Given the description of an element on the screen output the (x, y) to click on. 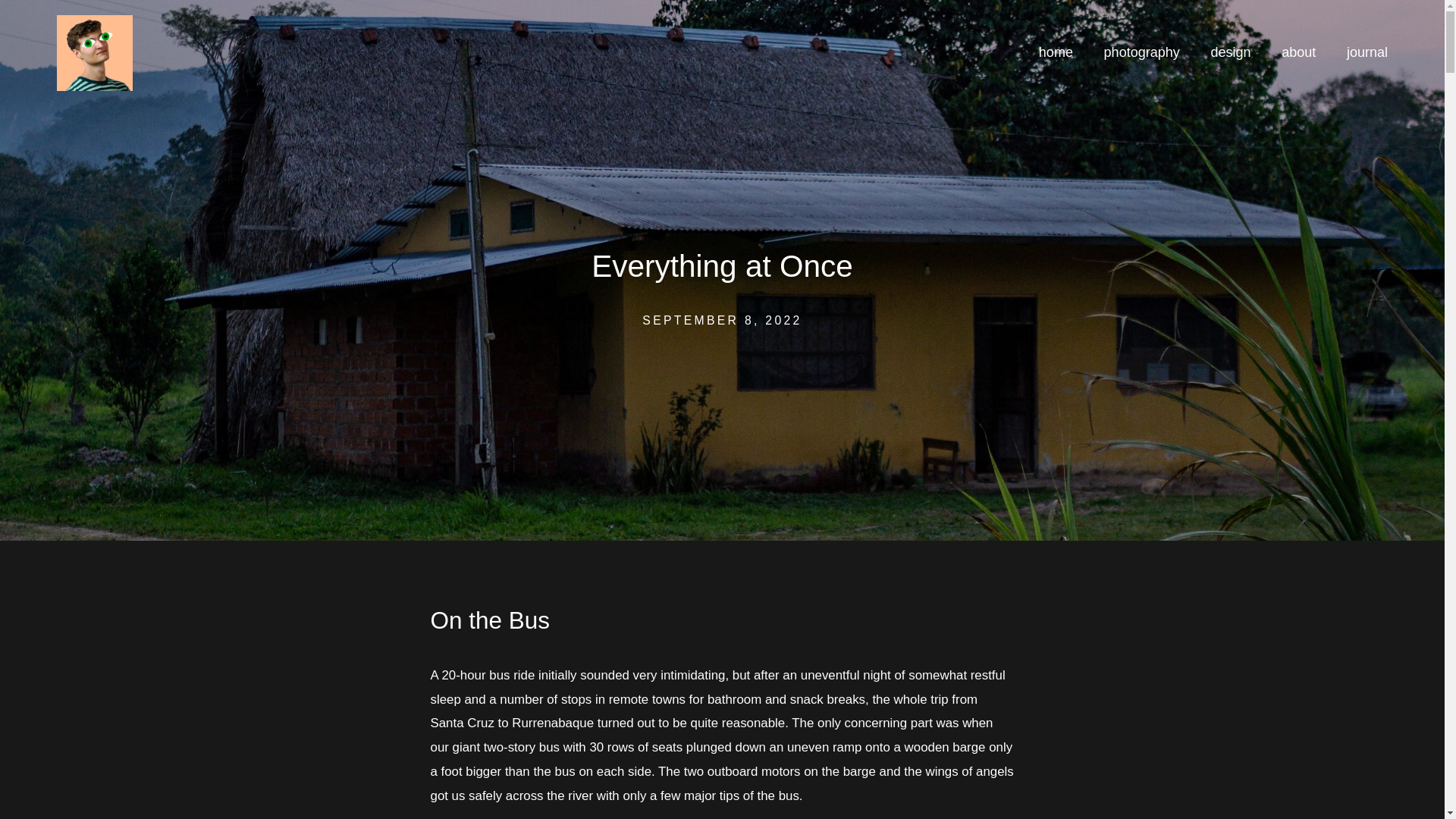
photography (1141, 52)
about (1298, 52)
design (1230, 52)
home (1055, 52)
journal (1367, 52)
